Given the description of an element on the screen output the (x, y) to click on. 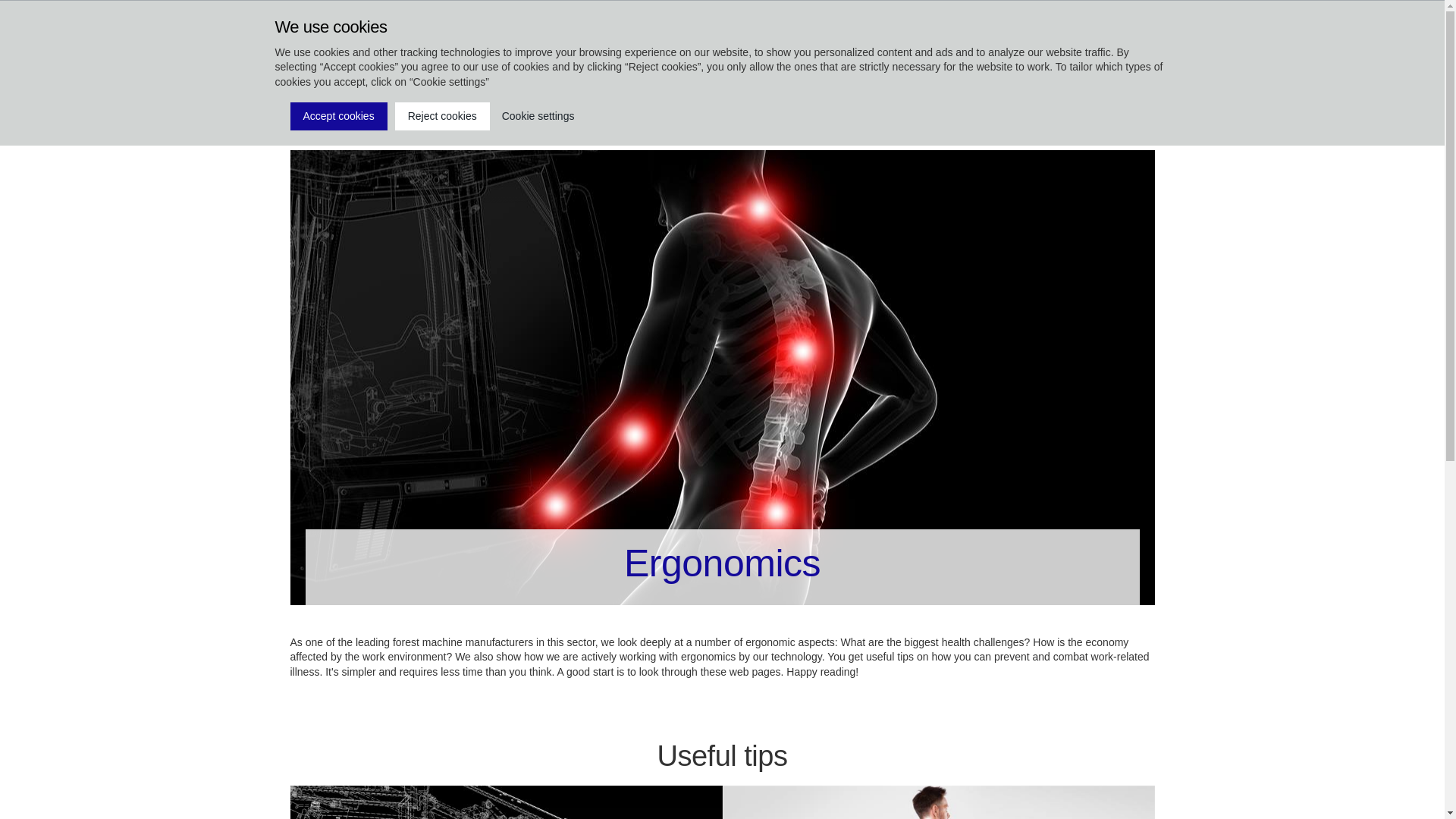
Reject cookies (441, 116)
Cookie settings (537, 116)
FOREST MACHINES (462, 81)
Accept cookies (338, 116)
ABOUT (321, 81)
